Given the description of an element on the screen output the (x, y) to click on. 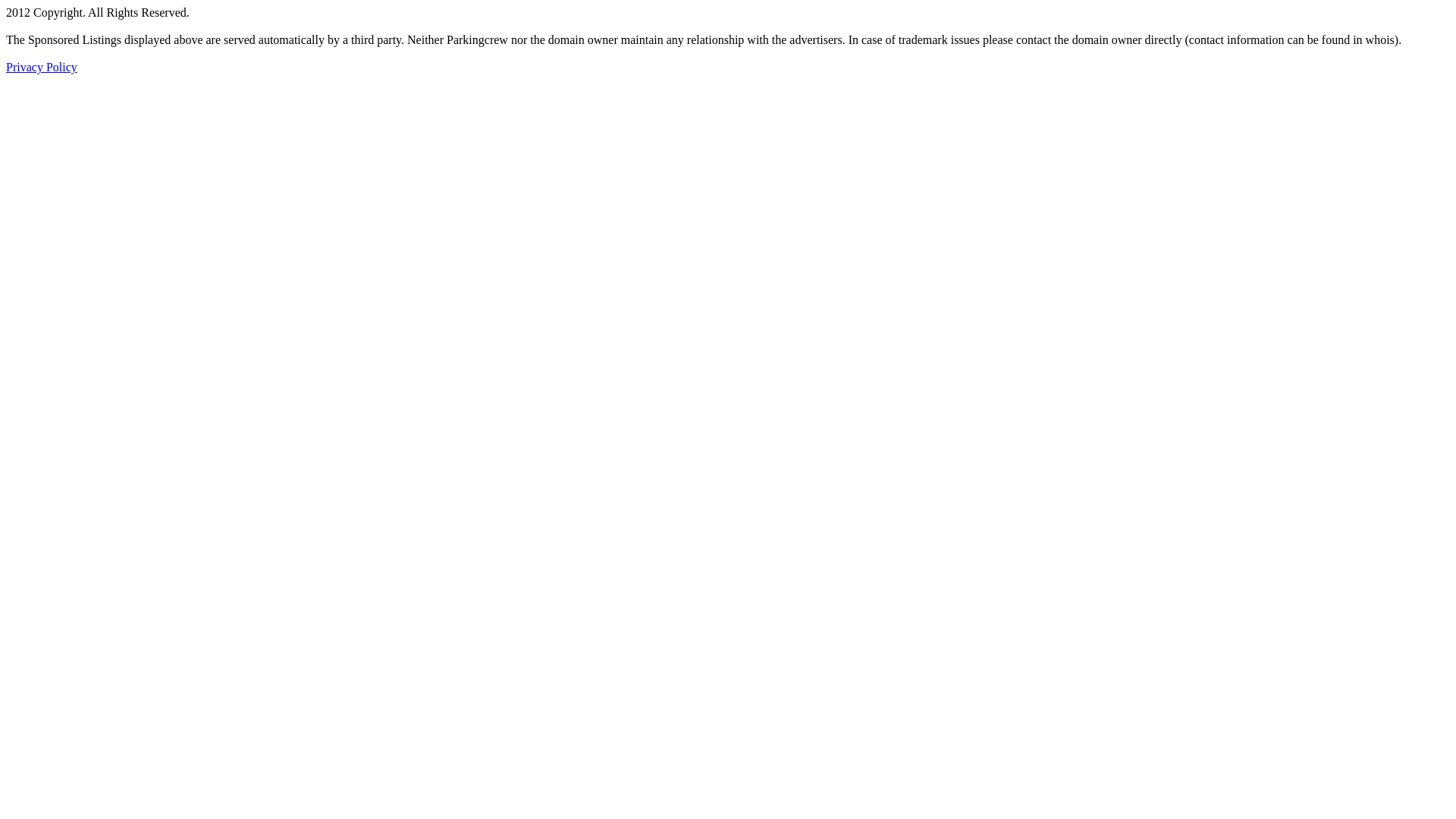
Privacy Policy Element type: text (41, 66)
